Given the description of an element on the screen output the (x, y) to click on. 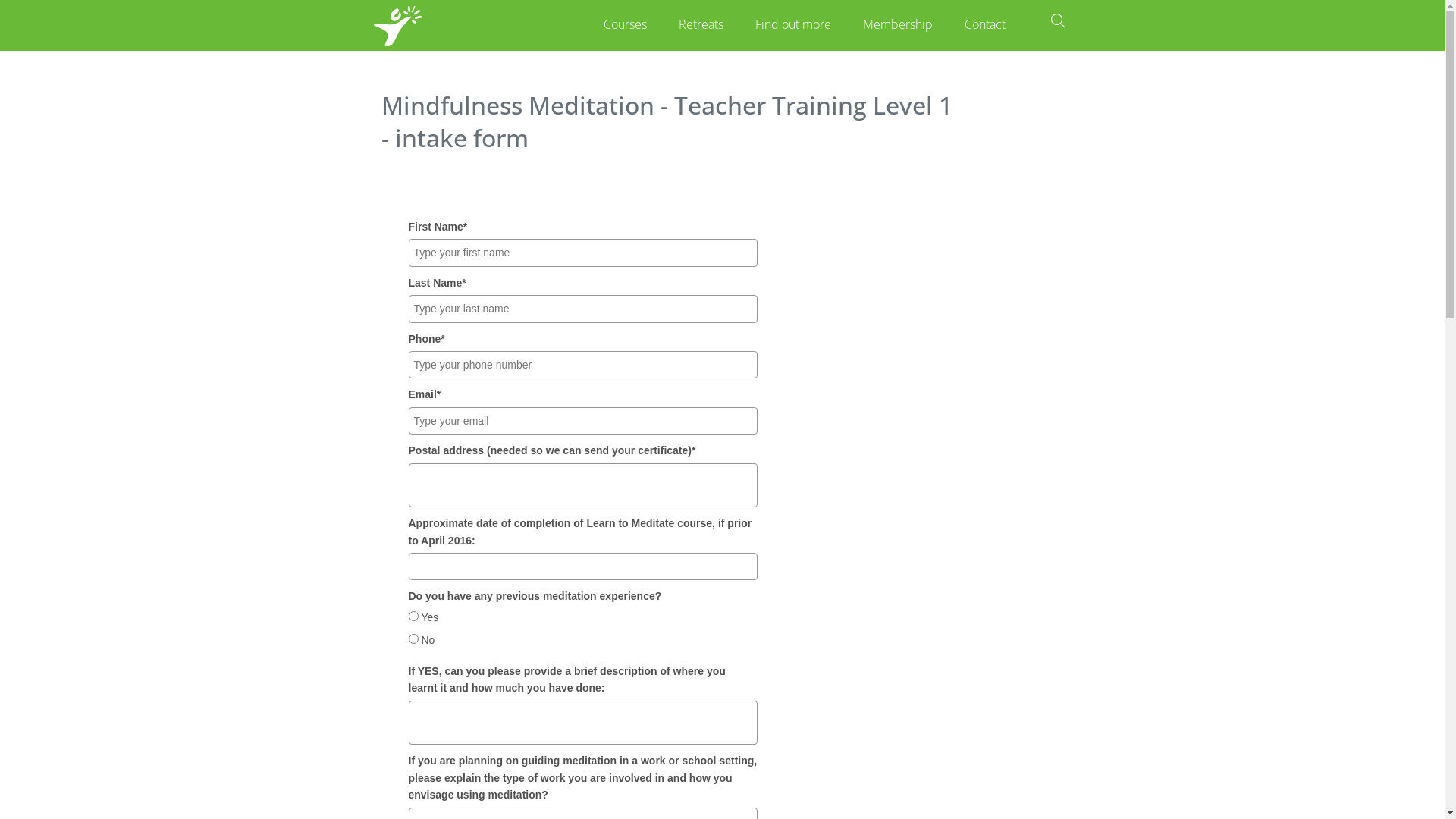
Contact Element type: text (985, 25)
Membership Element type: text (898, 25)
Find out more Element type: text (793, 25)
Retreats Element type: text (701, 25)
Courses Element type: text (625, 25)
